Given the description of an element on the screen output the (x, y) to click on. 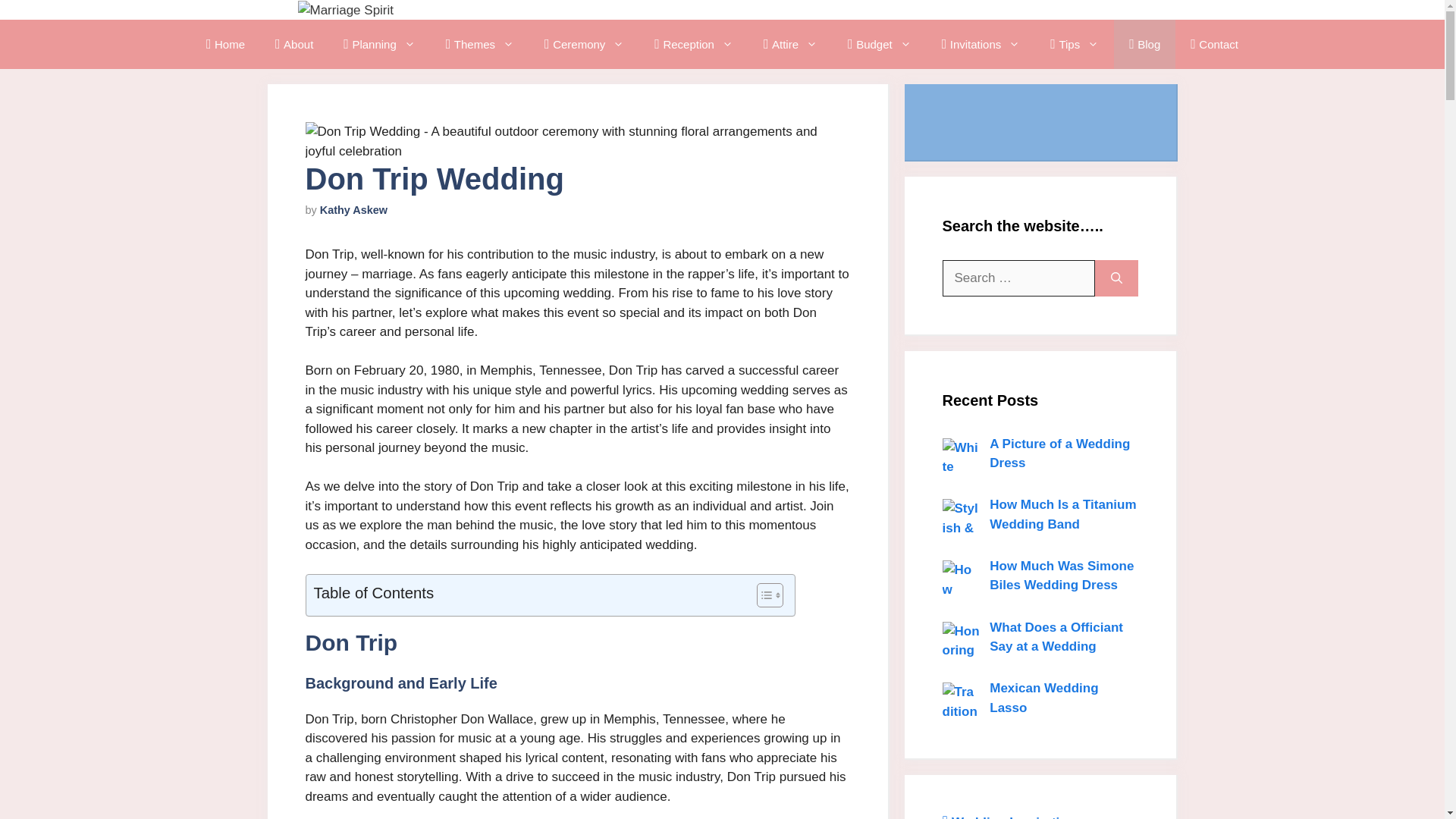
Don Trip Wedding 1 (576, 141)
View all posts by Kathy Askew (353, 209)
